Given the description of an element on the screen output the (x, y) to click on. 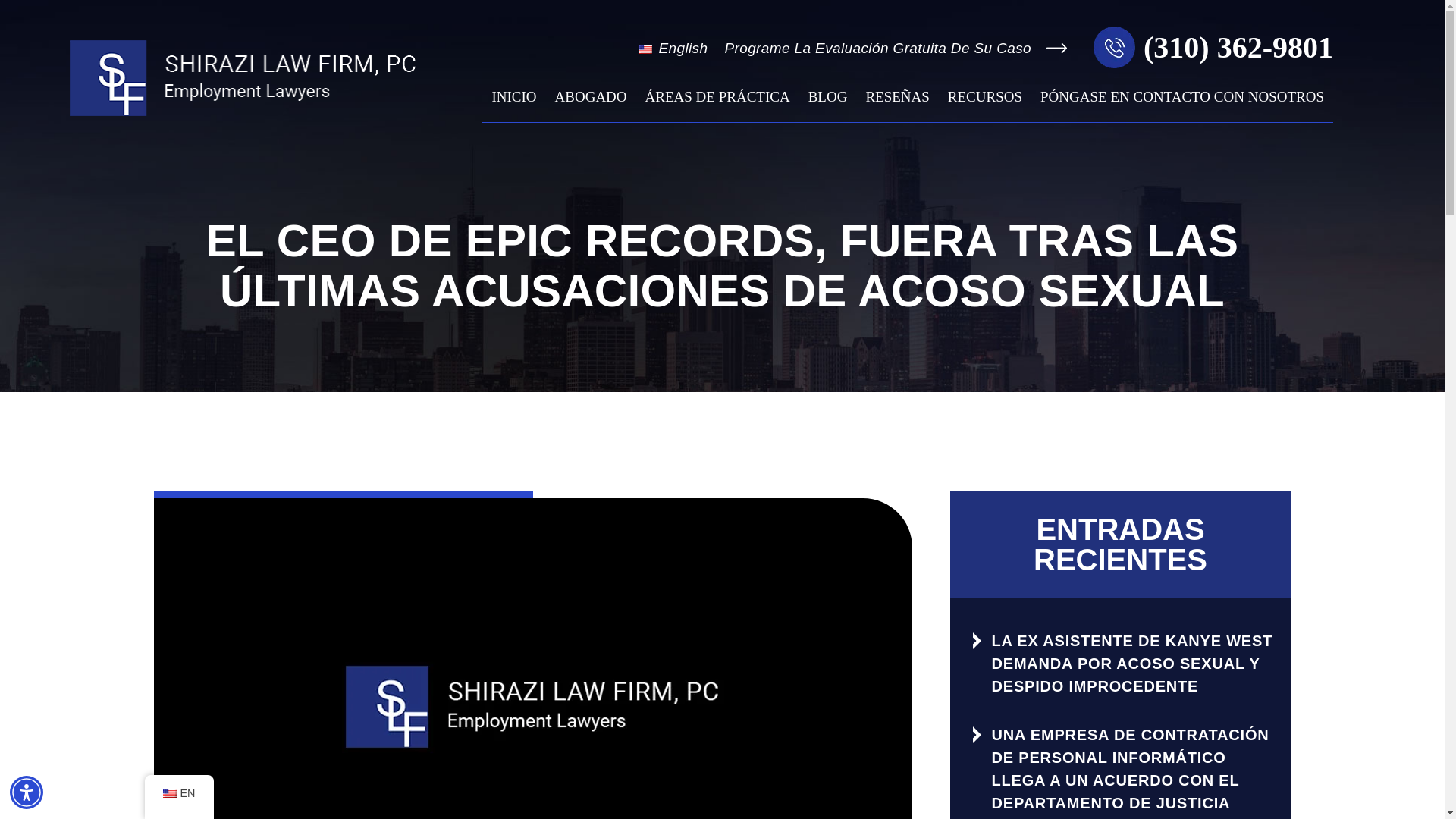
English (680, 48)
INICIO (512, 105)
RECURSOS (984, 105)
BLOG (828, 105)
English (680, 48)
English (168, 792)
ABOGADO (591, 105)
English (645, 49)
